Given the description of an element on the screen output the (x, y) to click on. 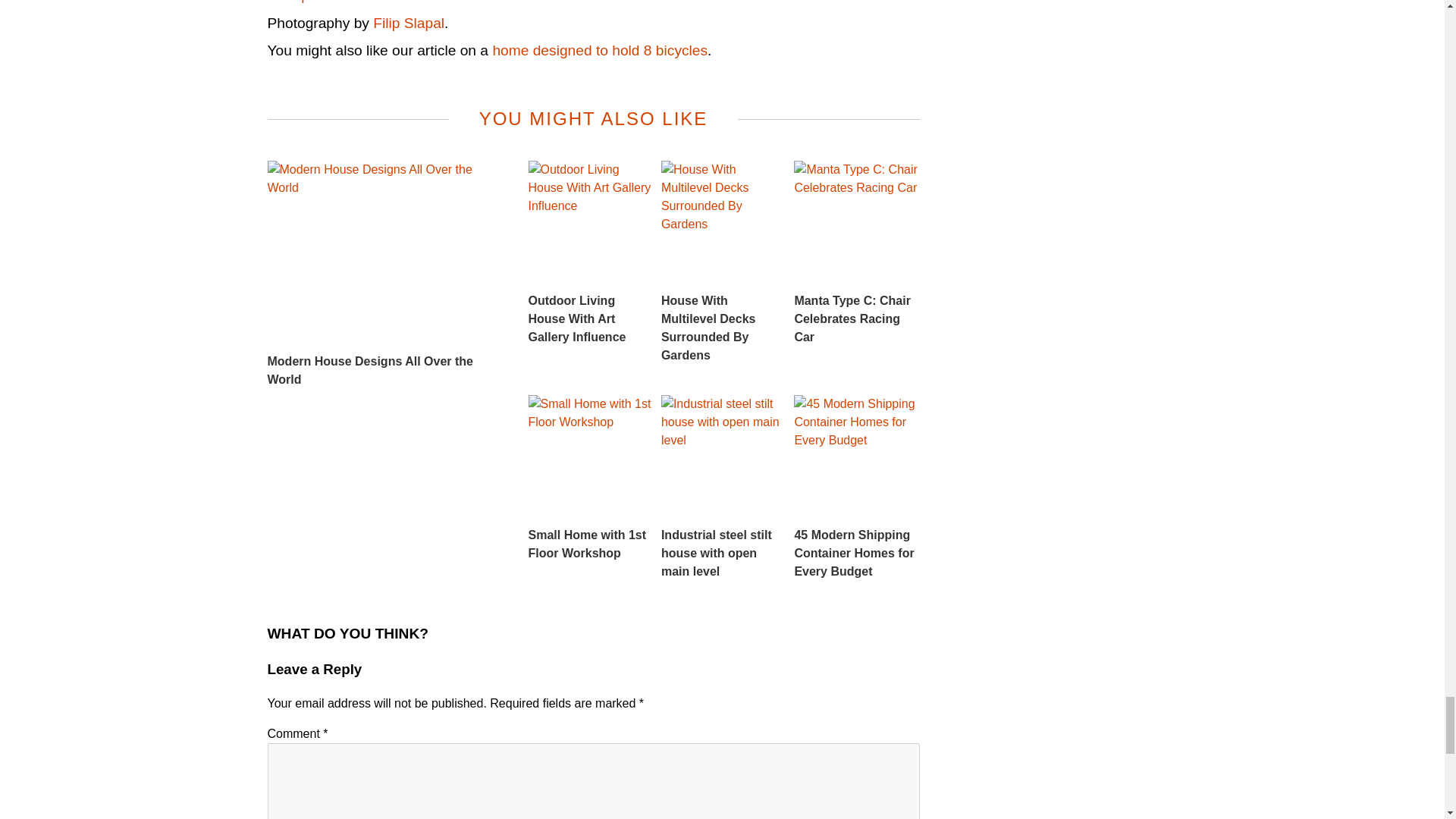
Modern House Designs All Over the World (385, 274)
Modern House Designs All Over the World (385, 274)
home designed to hold 8 bicycles (599, 50)
Filip Slapal (408, 23)
